Given the description of an element on the screen output the (x, y) to click on. 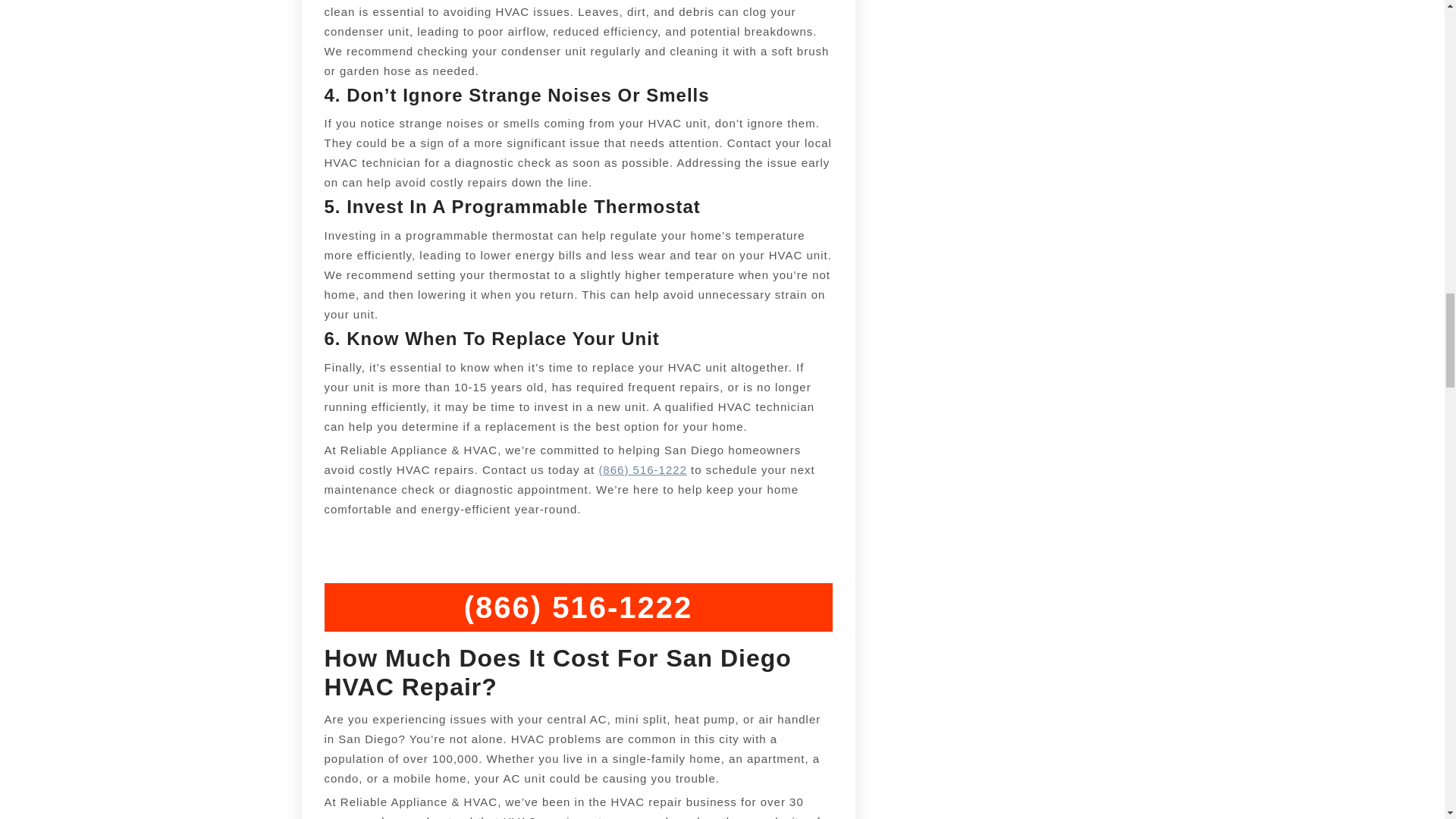
HVAC Repair in San Diego (642, 469)
